Given the description of an element on the screen output the (x, y) to click on. 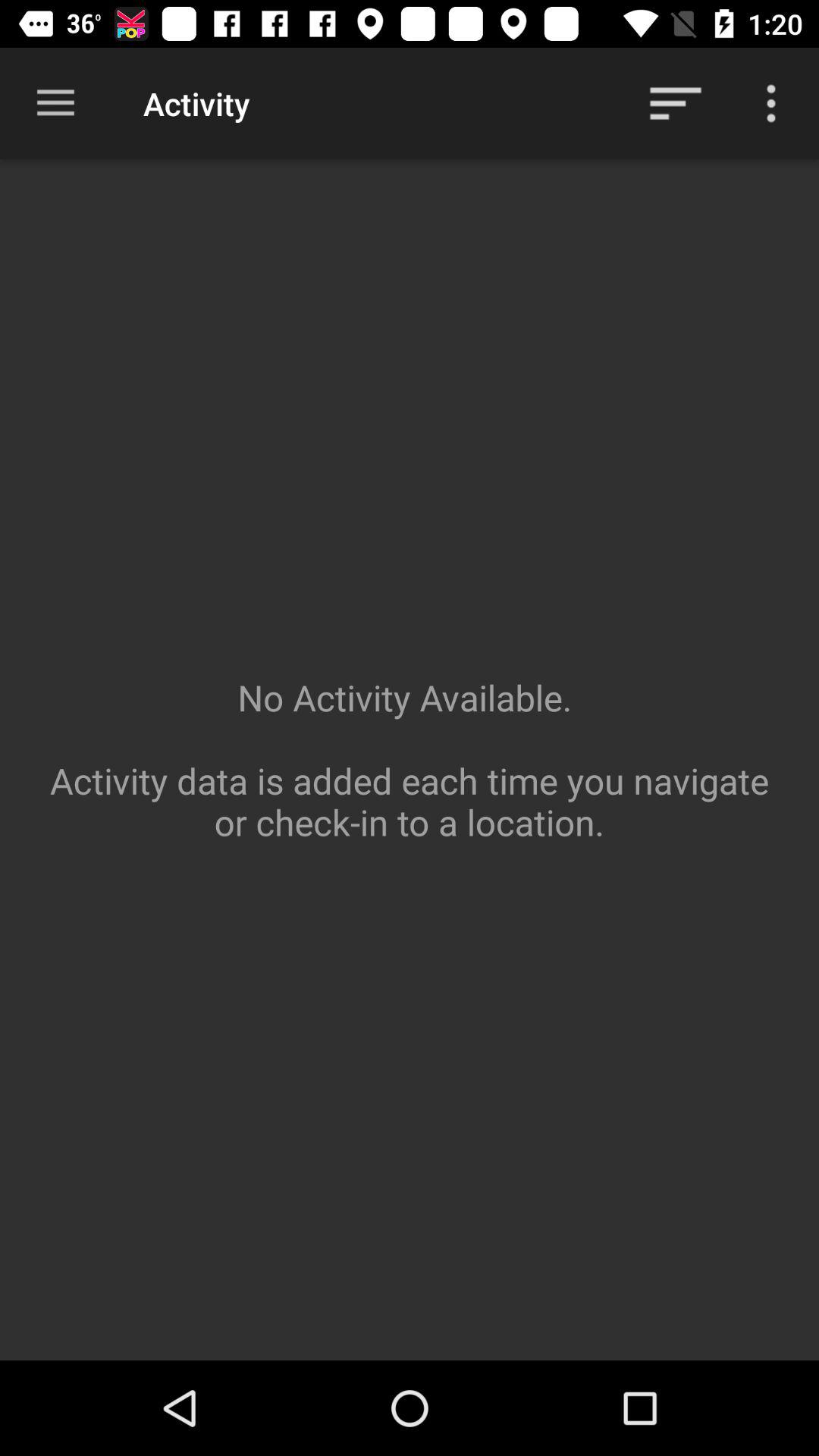
more selections (771, 103)
